Given the description of an element on the screen output the (x, y) to click on. 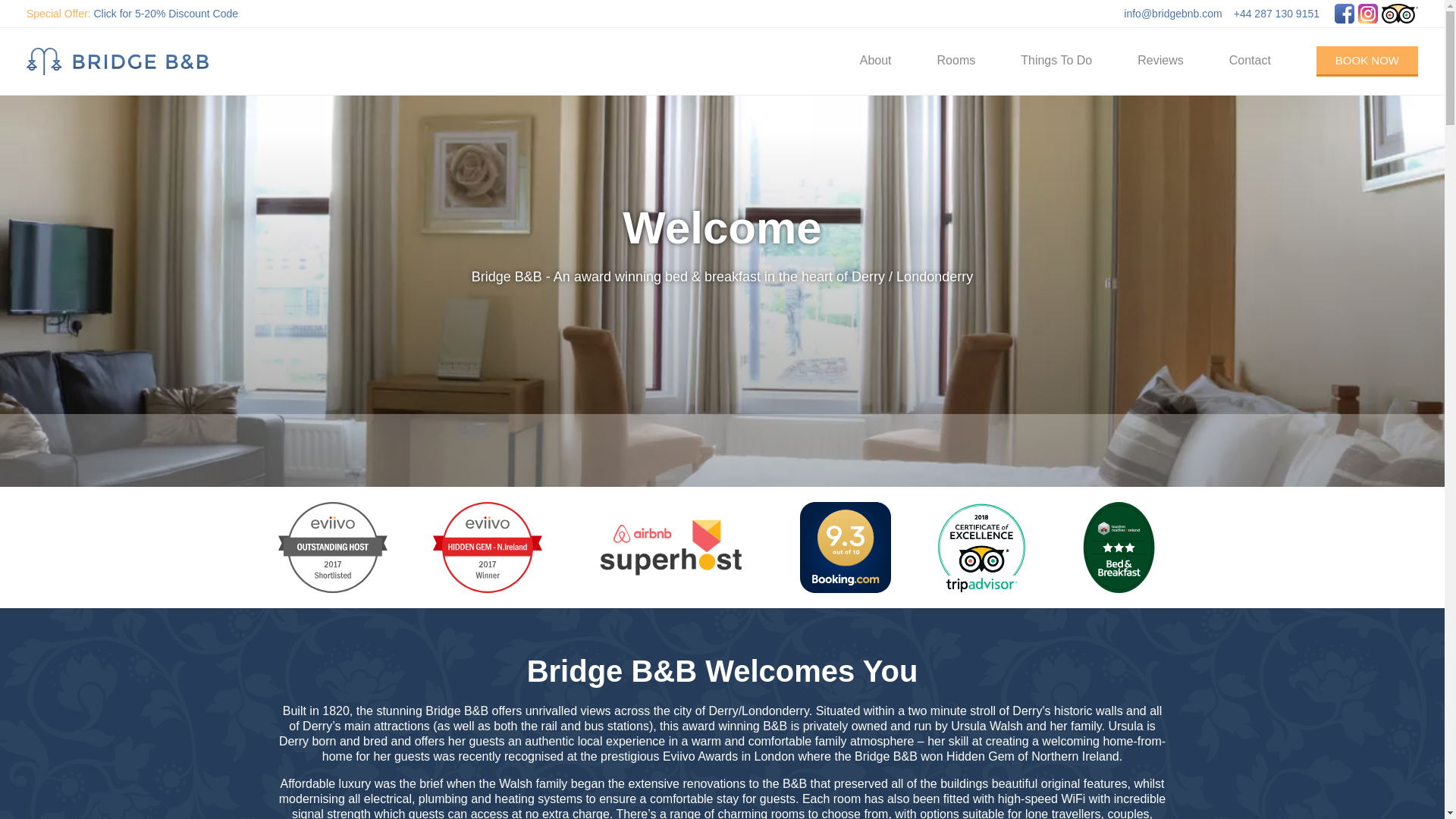
About (875, 60)
Rooms (956, 60)
Things To Do (1056, 60)
Contact (1250, 60)
Reviews (1160, 60)
BOOK NOW (1367, 60)
